Given the description of an element on the screen output the (x, y) to click on. 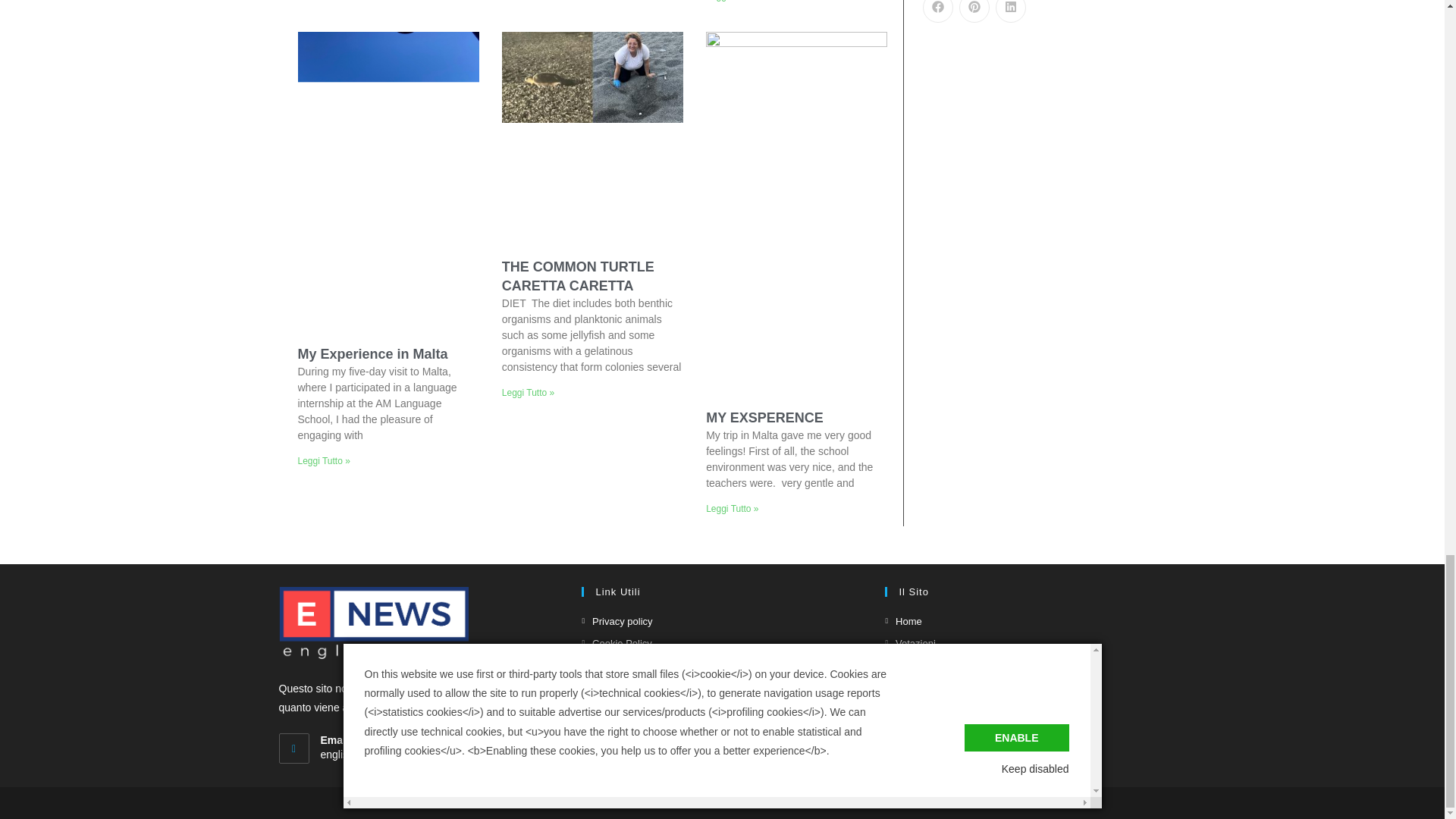
Share on Pinterest (973, 11)
My Experience in Malta (371, 353)
THE COMMON TURTLE CARETTA CARETTA (577, 276)
Share on LinkedIn (1009, 11)
Share on Facebook (936, 11)
MY EXSPERENCE (765, 417)
